Given the description of an element on the screen output the (x, y) to click on. 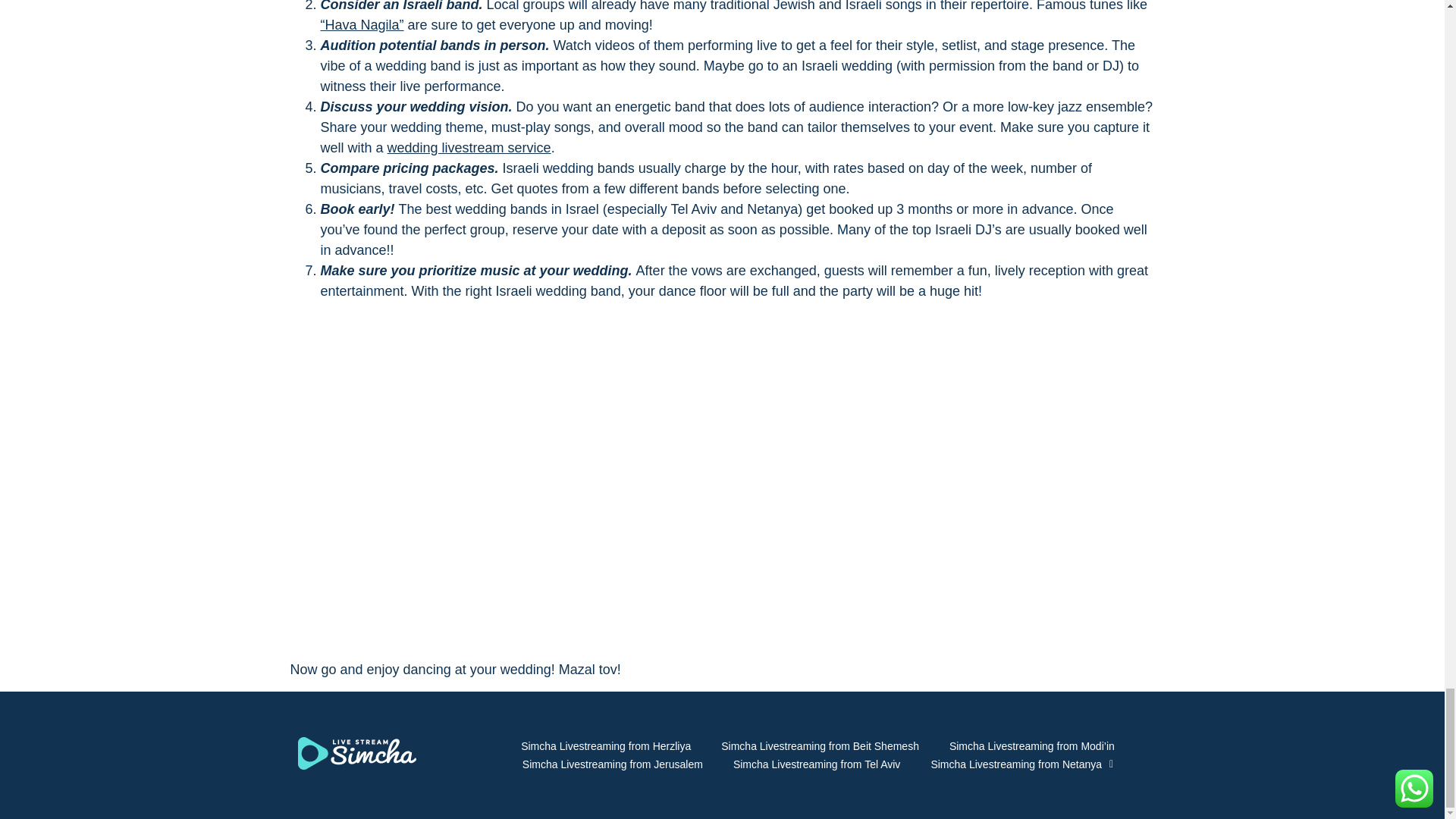
Simcha Livestreaming from Beit Shemesh (820, 746)
Simcha Livestreaming from Tel Aviv (816, 764)
wedding livestream service (469, 147)
Simcha Livestreaming from Herzliya (605, 746)
Simcha Livestreaming from Jerusalem (611, 764)
